Given the description of an element on the screen output the (x, y) to click on. 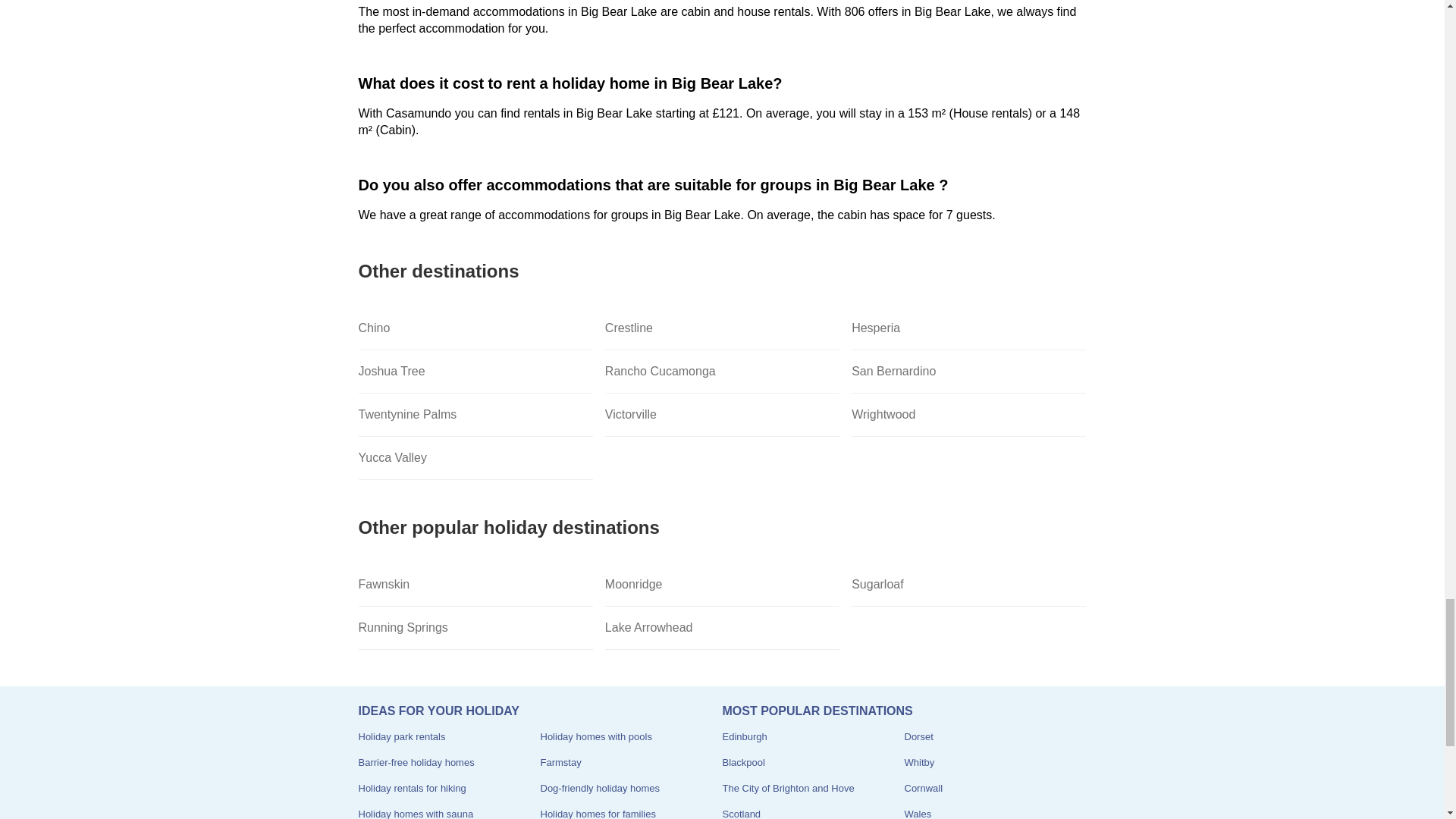
Hesperia (968, 328)
Wrightwood (968, 414)
Crestline (722, 328)
Lake Arrowhead (722, 628)
Crestline (722, 328)
Rancho Cucamonga (722, 371)
Victorville (722, 414)
Sugarloaf (968, 584)
Fawnskin (475, 584)
Chino (475, 328)
Hesperia (968, 328)
Moonridge (722, 584)
San Bernardino (968, 371)
Yucca Valley (475, 457)
Twentynine Palms (475, 414)
